Given the description of an element on the screen output the (x, y) to click on. 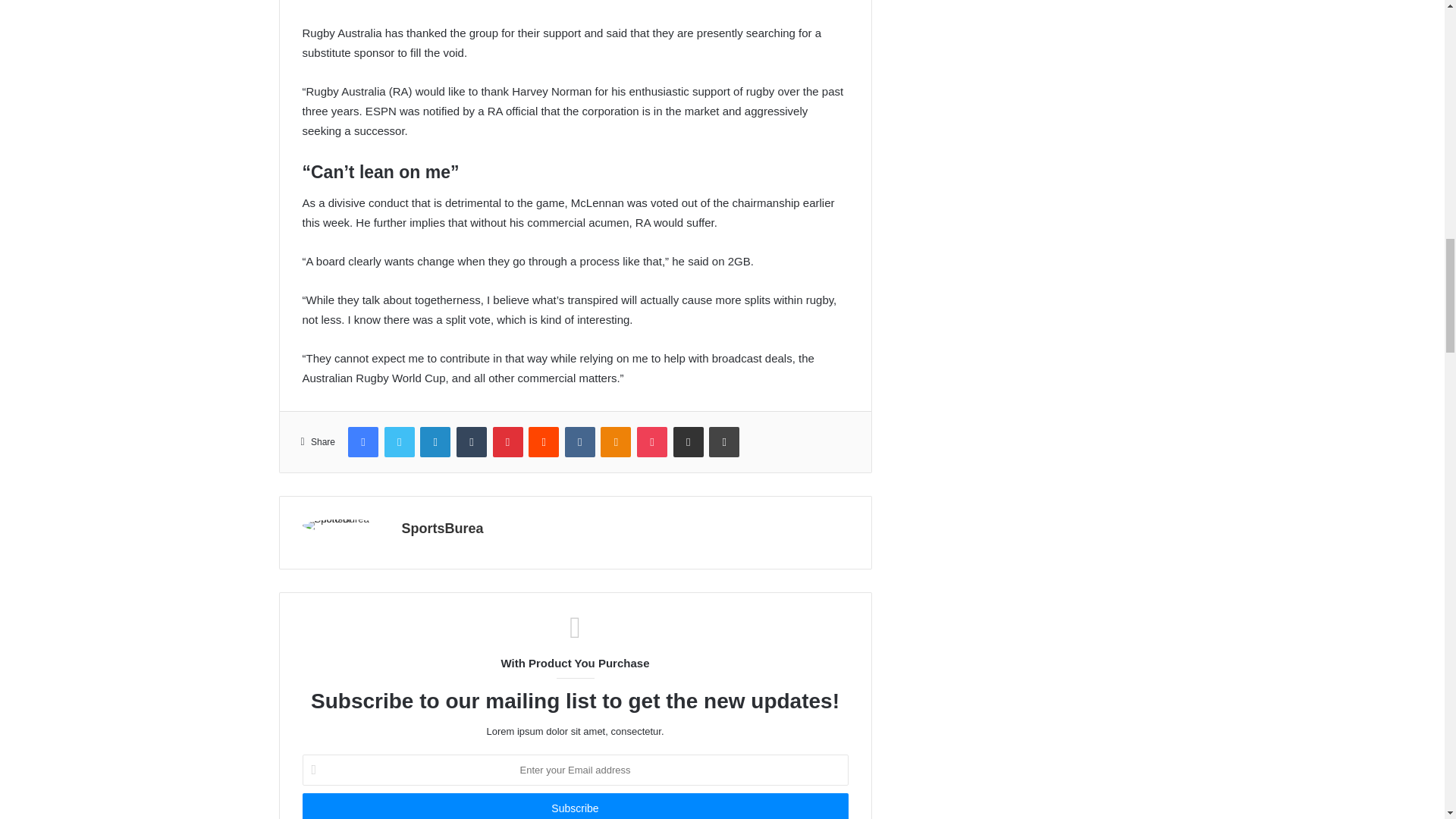
Subscribe (574, 806)
